Given the description of an element on the screen output the (x, y) to click on. 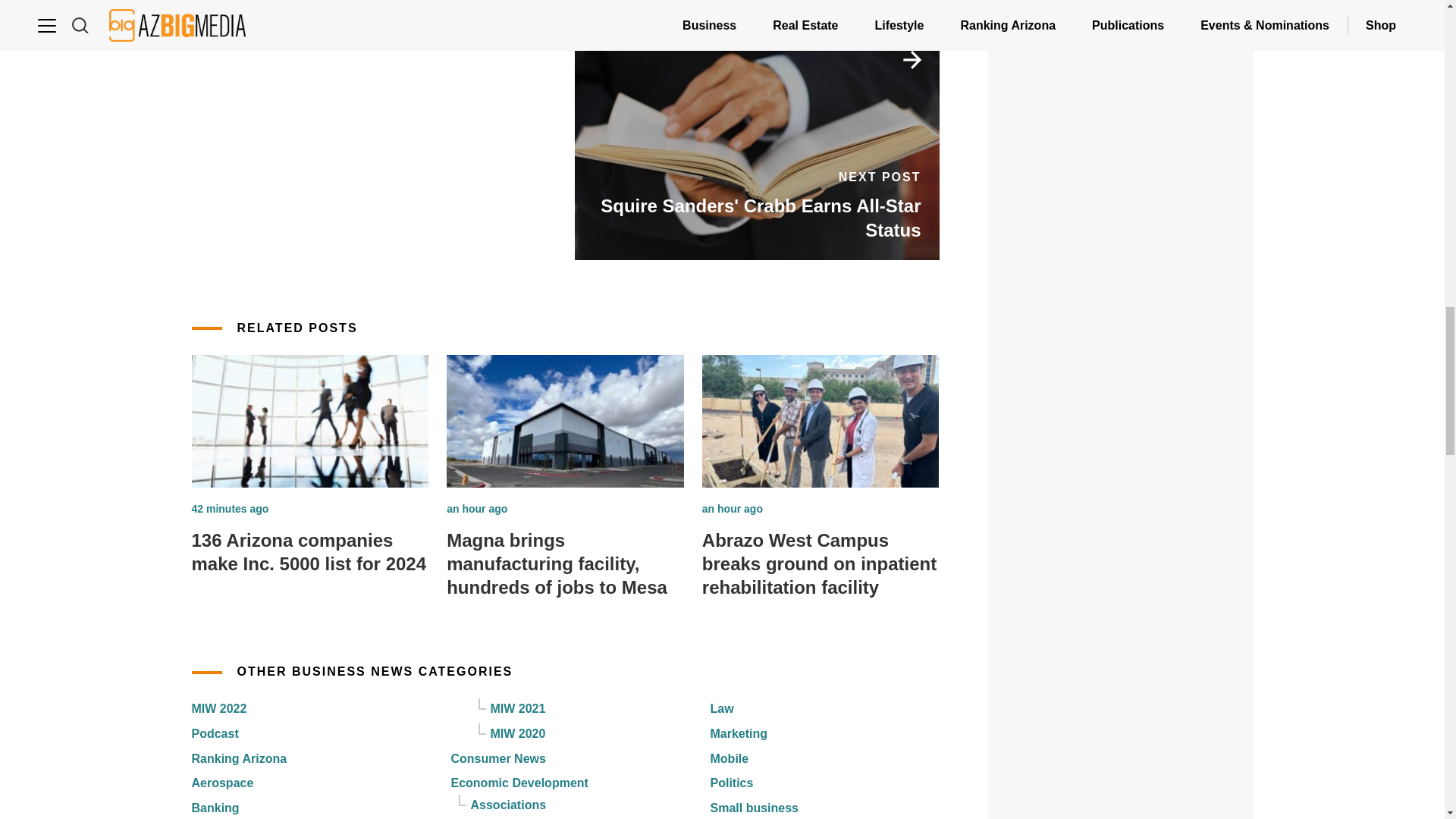
3rd party ad content (1120, 787)
3rd party ad content (1120, 80)
3rd party ad content (1120, 274)
